Given the description of an element on the screen output the (x, y) to click on. 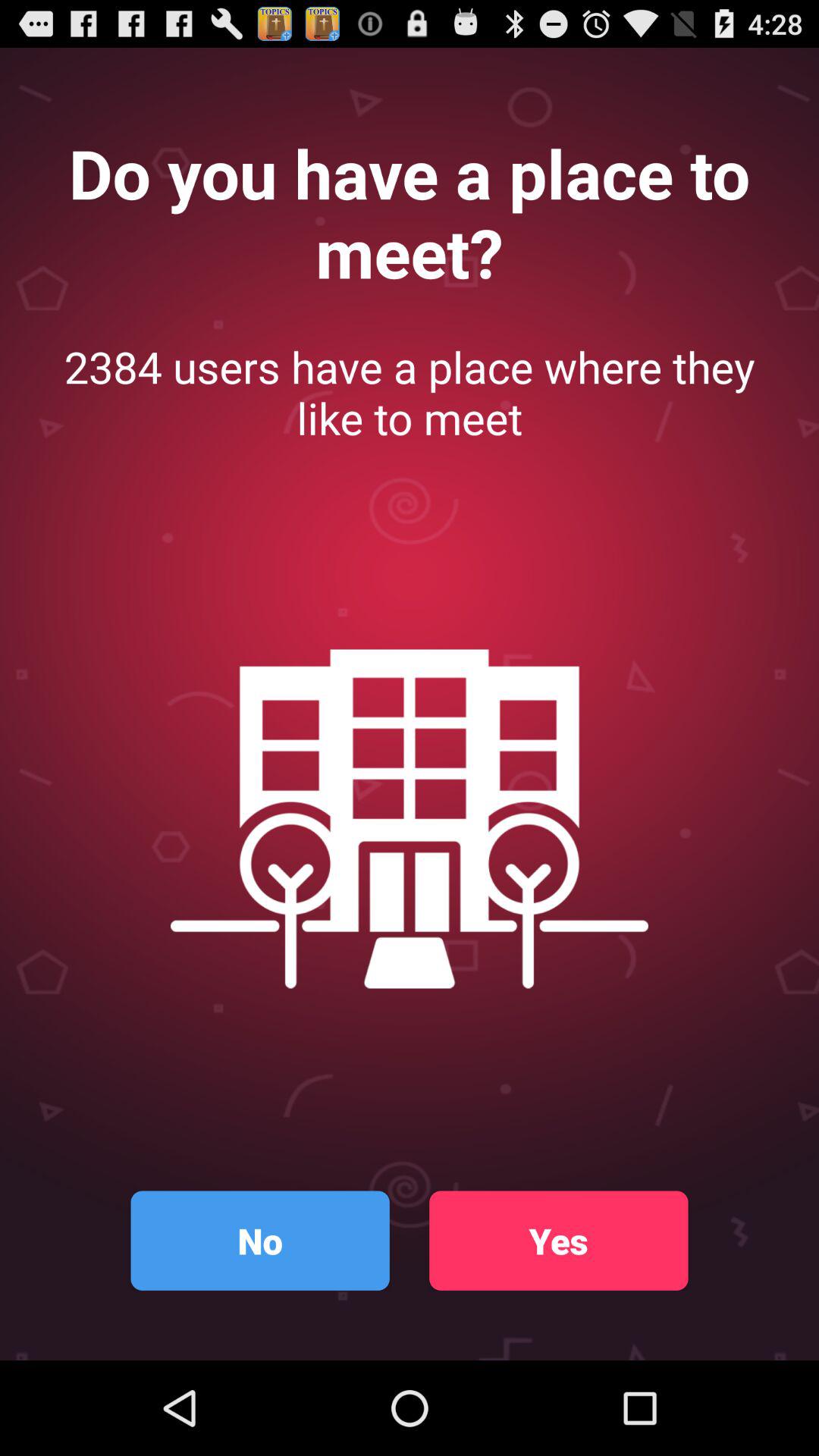
turn on yes item (558, 1240)
